Given the description of an element on the screen output the (x, y) to click on. 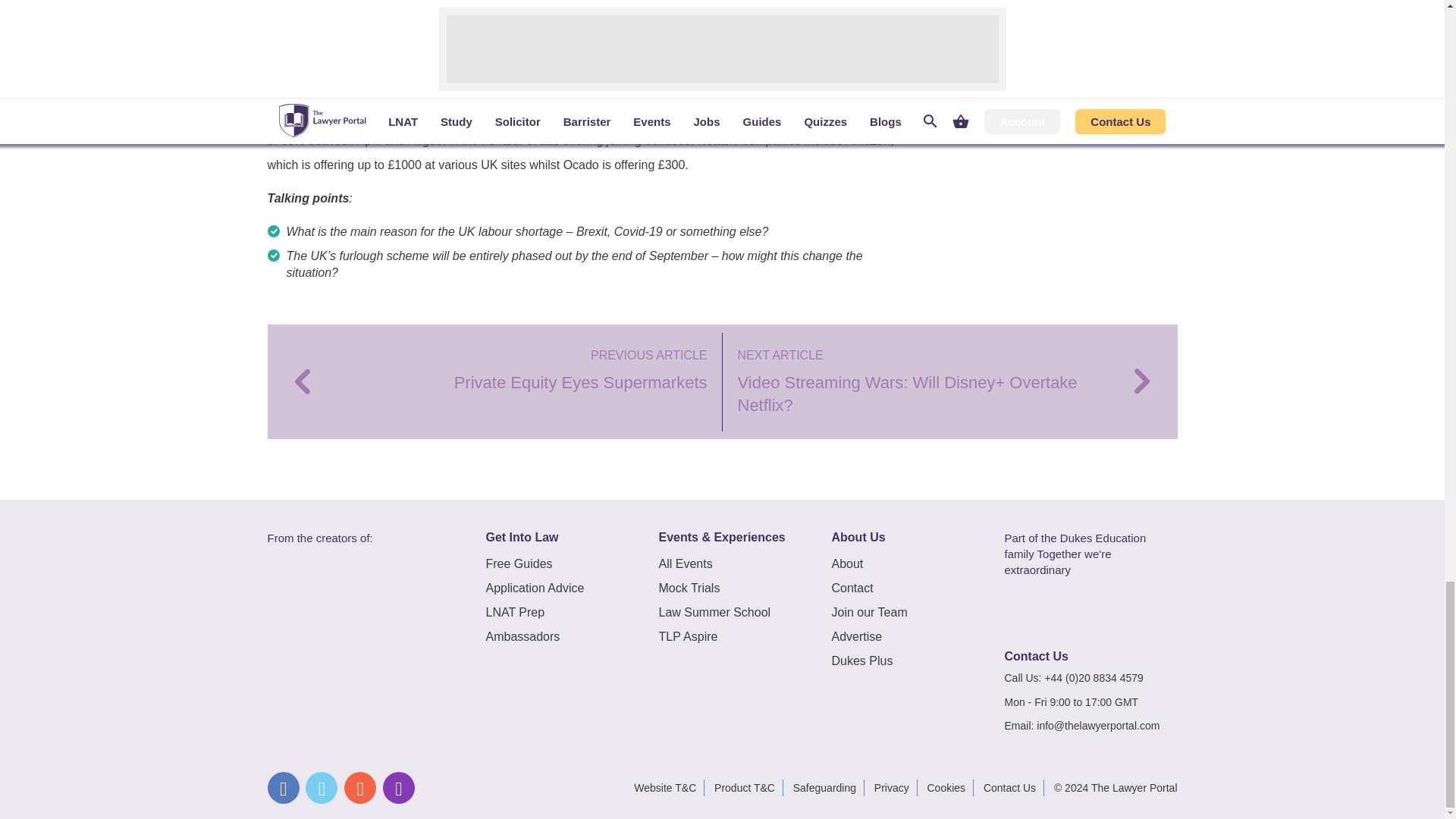
YouTube (359, 787)
Facebook (282, 787)
Twitter (321, 787)
Instagram (398, 787)
